Given the description of an element on the screen output the (x, y) to click on. 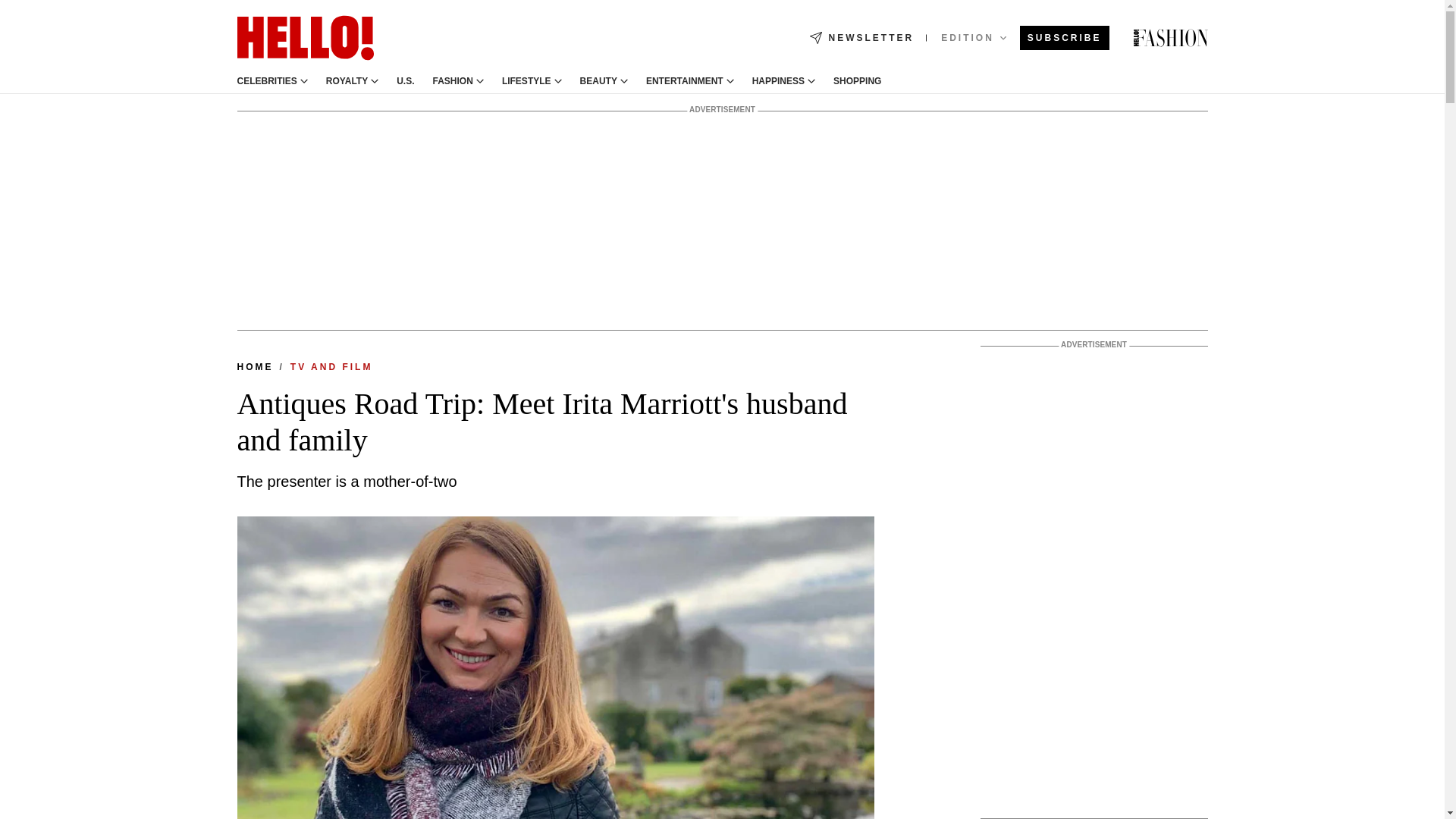
CELEBRITIES (266, 81)
ROYALTY (347, 81)
U.S. (404, 81)
BEAUTY (598, 81)
NEWSLETTER (861, 38)
FASHION (452, 81)
